Given the description of an element on the screen output the (x, y) to click on. 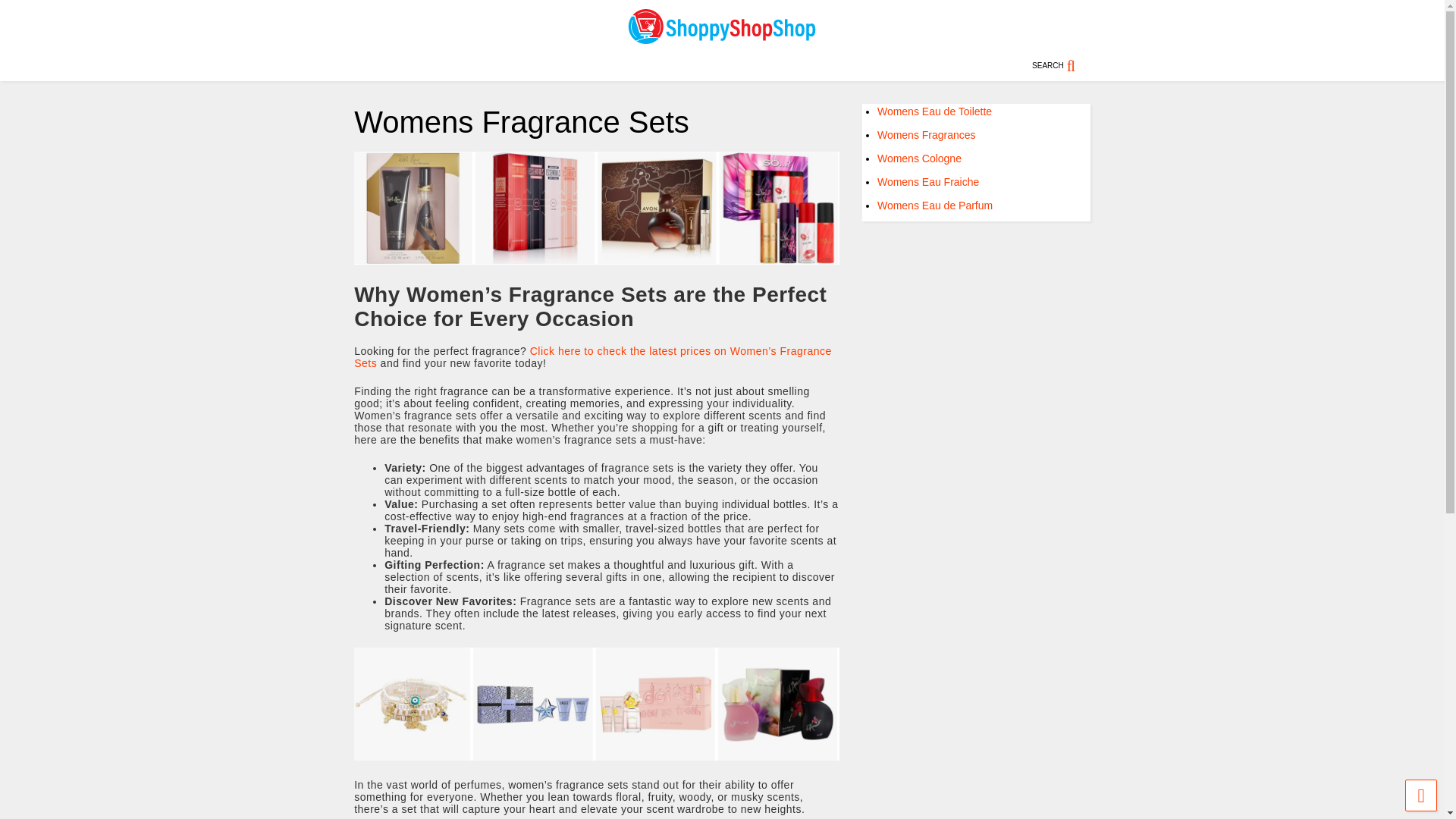
Find A Bargain Today With Shoppy Shop Shop (721, 38)
Womens Eau Fraiche (927, 182)
Womens Eau de Parfum (934, 205)
Womens Cologne (918, 158)
Womens Eau de Toilette (934, 111)
Womens Fragrances (926, 134)
SEARCH (1061, 65)
